Given the description of an element on the screen output the (x, y) to click on. 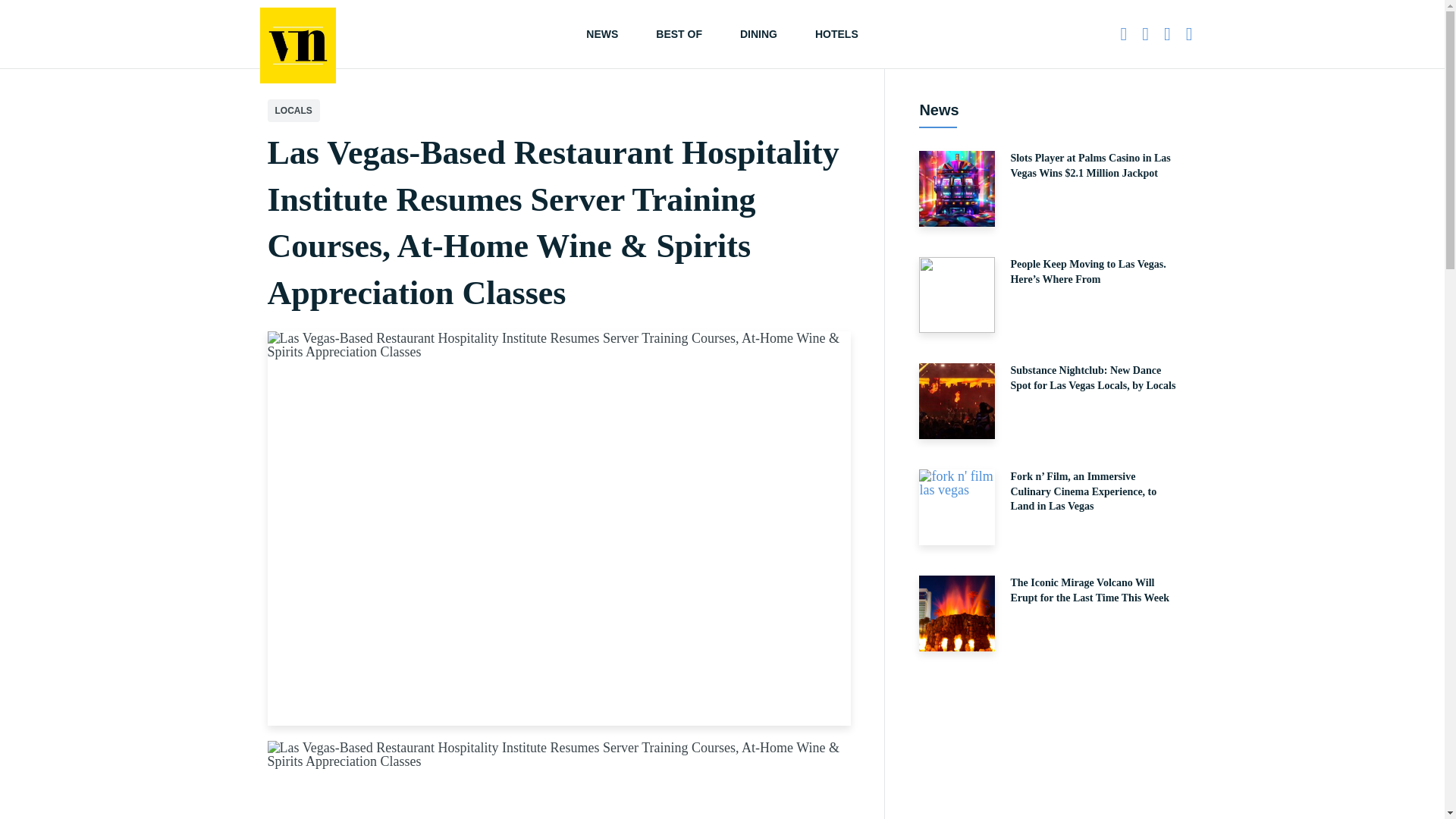
HOTELS (837, 33)
BEST OF (678, 33)
NEWS (601, 33)
DINING (758, 33)
LOCALS (292, 110)
